Given the description of an element on the screen output the (x, y) to click on. 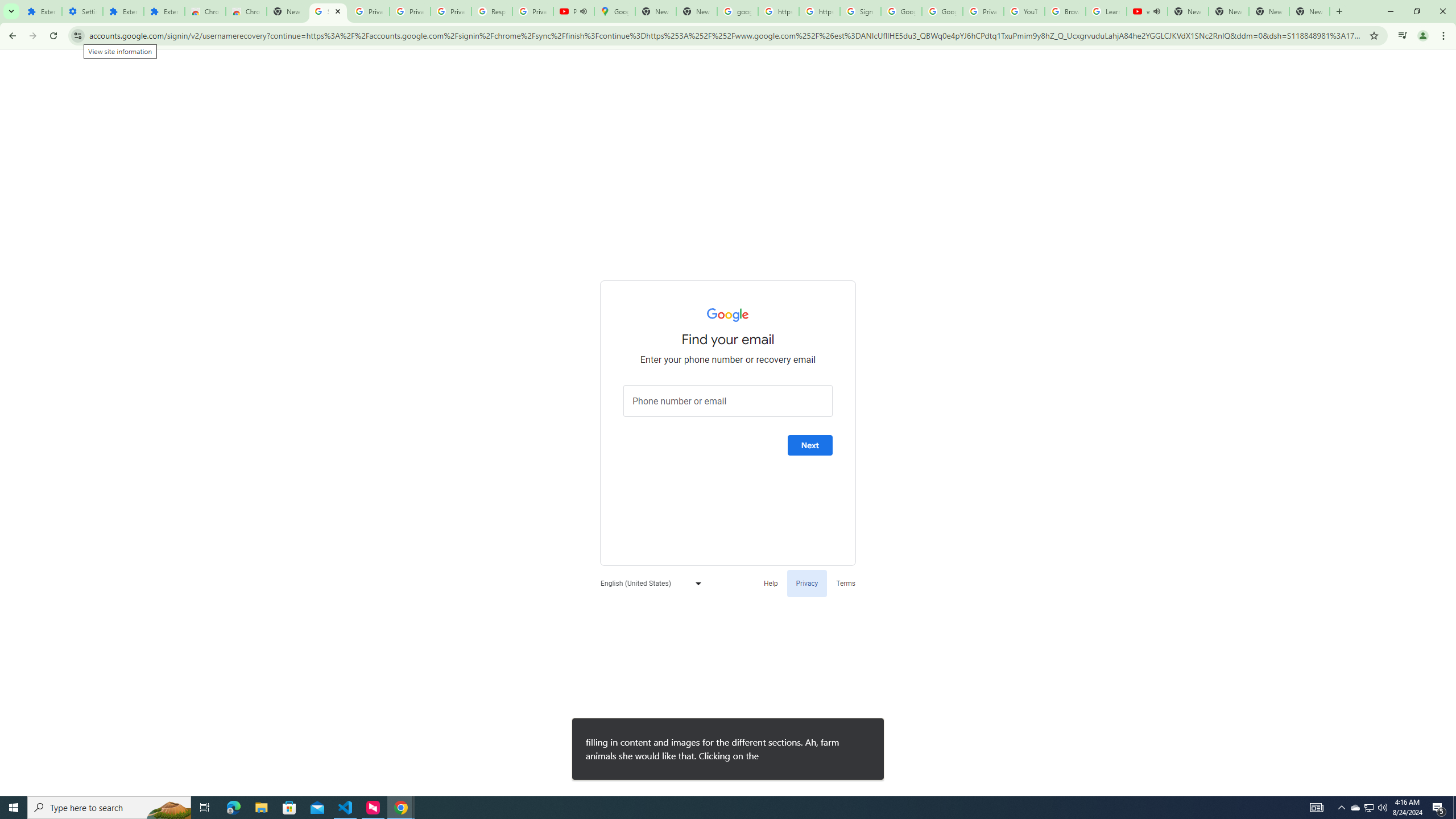
New Tab (287, 11)
Help (770, 583)
Extensions (41, 11)
Privacy (806, 583)
